Given the description of an element on the screen output the (x, y) to click on. 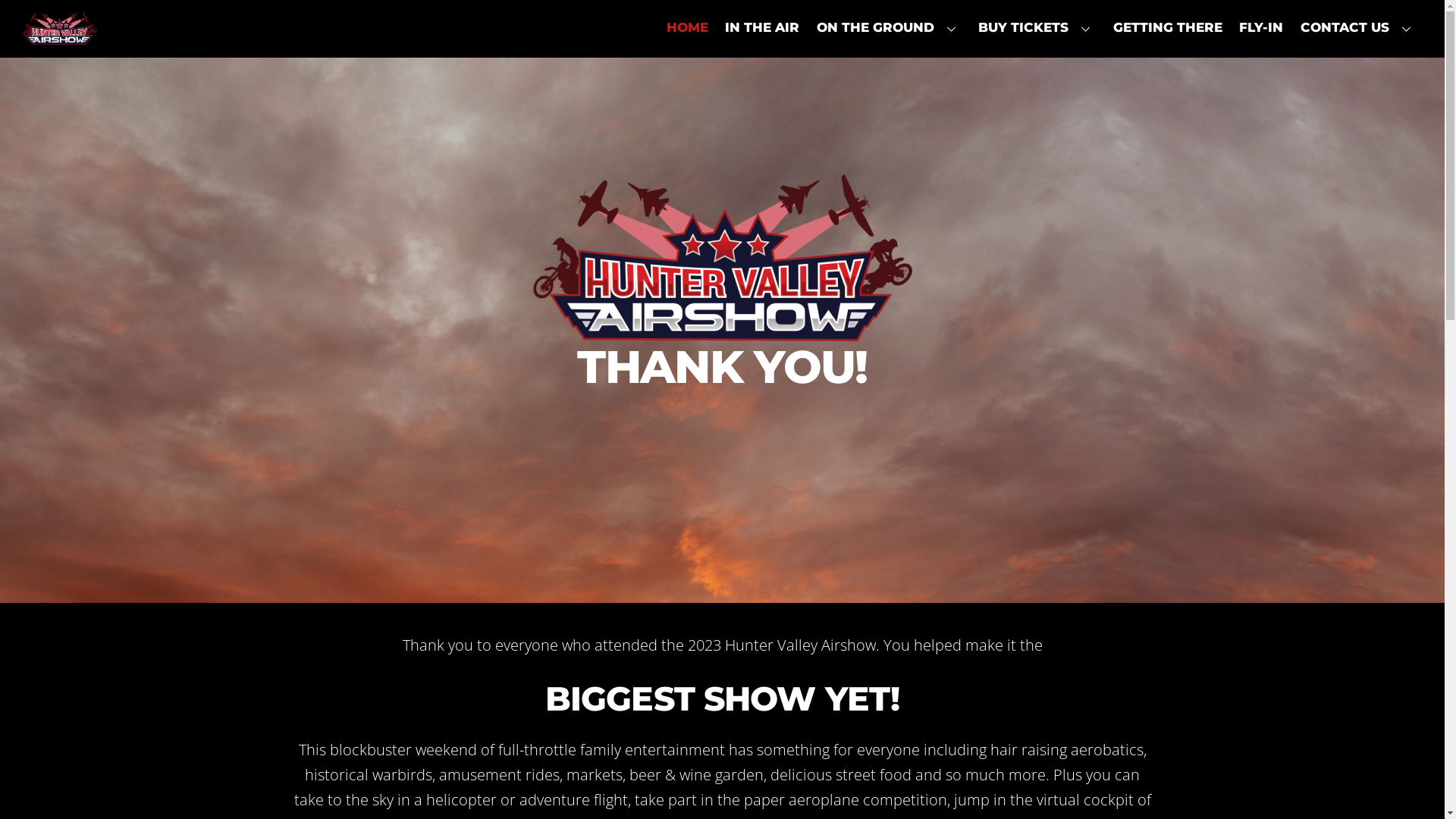
Hunter Valley Airshow Element type: hover (59, 34)
ON THE GROUND Element type: text (888, 27)
CONTACT US Element type: text (1358, 27)
GETTING THERE Element type: text (1167, 27)
BUY TICKETS Element type: text (1036, 27)
IN THE AIR Element type: text (762, 27)
FLY-IN Element type: text (1261, 27)
HVairshow-site logo Element type: hover (59, 27)
HVAIRSHOW-LOGO Element type: hover (721, 259)
HOME Element type: text (686, 27)
